Given the description of an element on the screen output the (x, y) to click on. 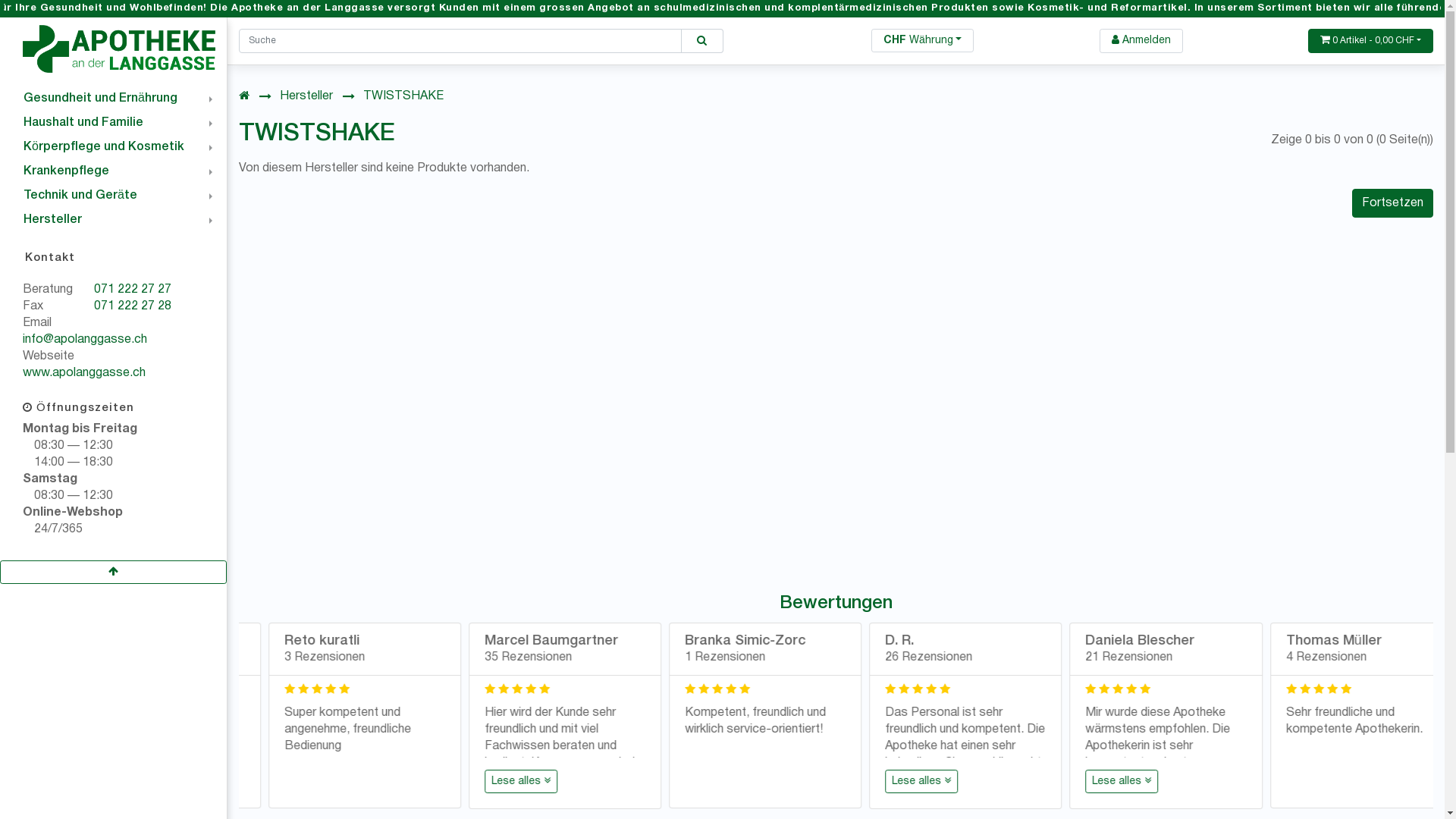
071 222 27 27 Element type: text (132, 289)
Lese alles Element type: text (691, 781)
Anmelden Element type: text (1141, 40)
Kontakt Element type: text (112, 257)
TWISTSHAKE Element type: text (403, 96)
Fortsetzen Element type: text (1392, 202)
Apotheke an der Langgasse Element type: hover (118, 48)
0 Artikel - 0,00 CHF Element type: text (1370, 40)
Hersteller Element type: text (305, 96)
Lese alles Element type: text (1092, 781)
info@apolanggasse.ch Element type: text (84, 339)
Lese alles Element type: text (1292, 781)
071 222 27 28 Element type: text (132, 306)
Krankenpflege Element type: text (113, 171)
Hersteller Element type: text (113, 219)
Haushalt und Familie Element type: text (113, 122)
www.apolanggasse.ch Element type: text (83, 372)
